Given the description of an element on the screen output the (x, y) to click on. 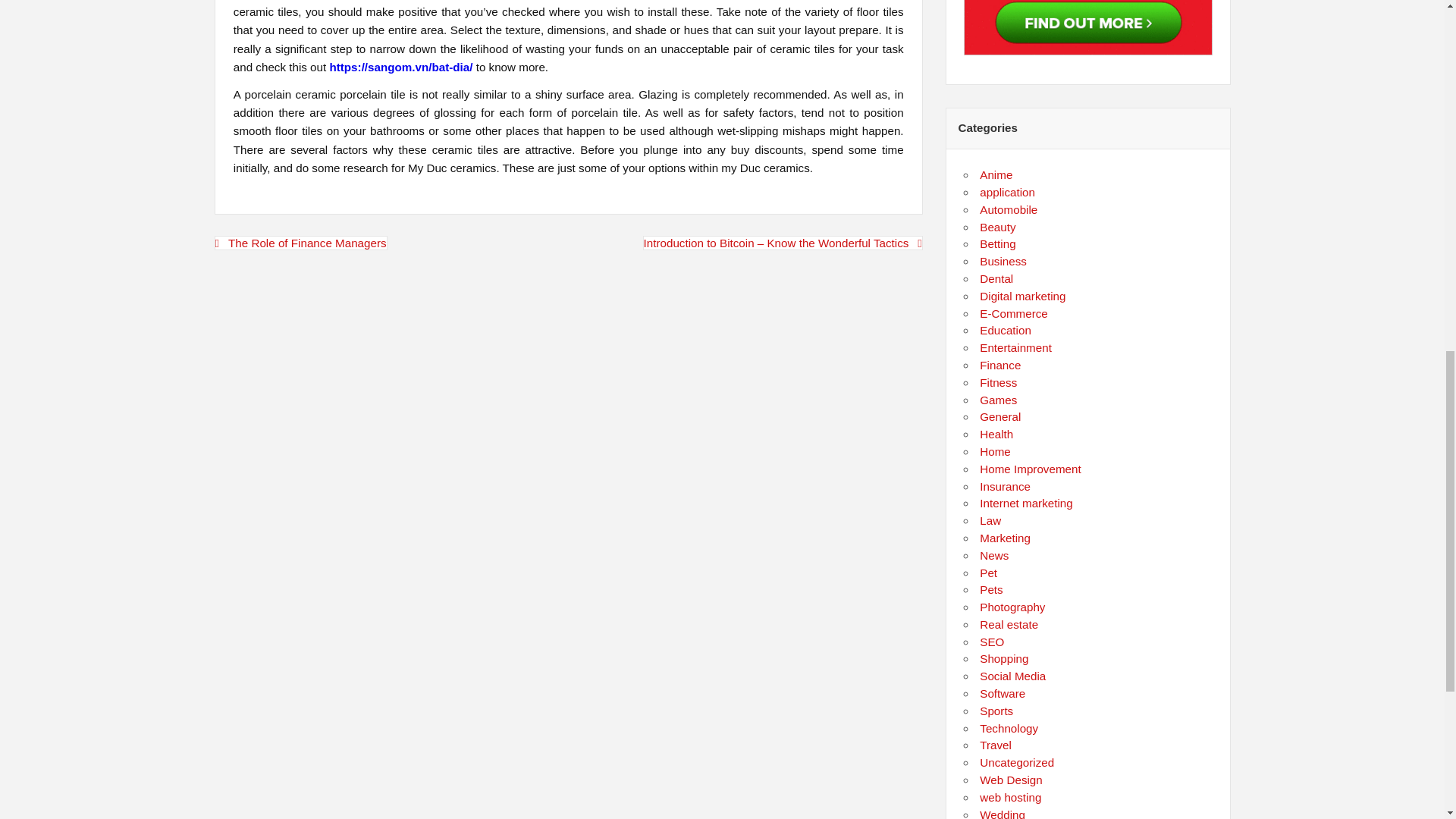
Anime (995, 174)
Digital marketing (1022, 295)
Internet marketing (1025, 502)
Home (994, 451)
The Role of Finance Managers (300, 242)
Betting (996, 243)
Automobile (1007, 209)
Dental (996, 278)
application (1007, 192)
E-Commerce (1012, 313)
Fitness (997, 382)
General (999, 416)
Health (996, 433)
Beauty (996, 226)
Entertainment (1015, 347)
